Given the description of an element on the screen output the (x, y) to click on. 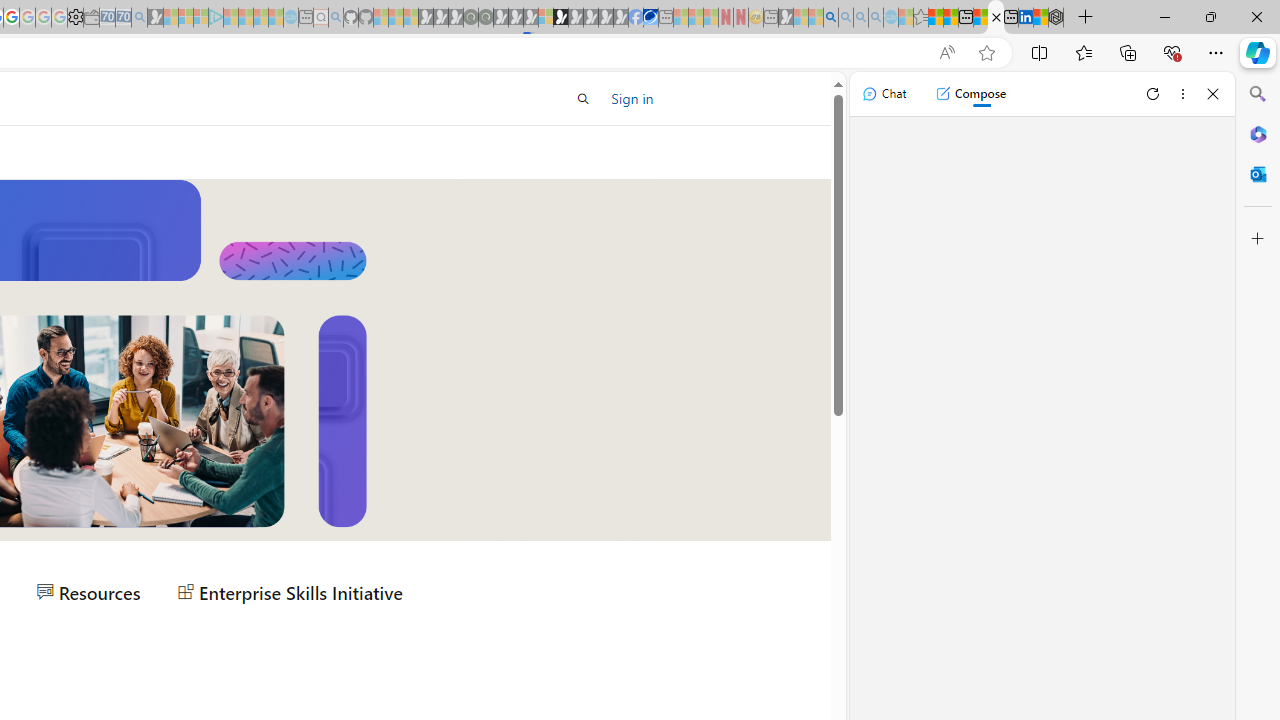
Favorites - Sleeping (920, 17)
MSN - Sleeping (786, 17)
LinkedIn (1025, 17)
